Given the description of an element on the screen output the (x, y) to click on. 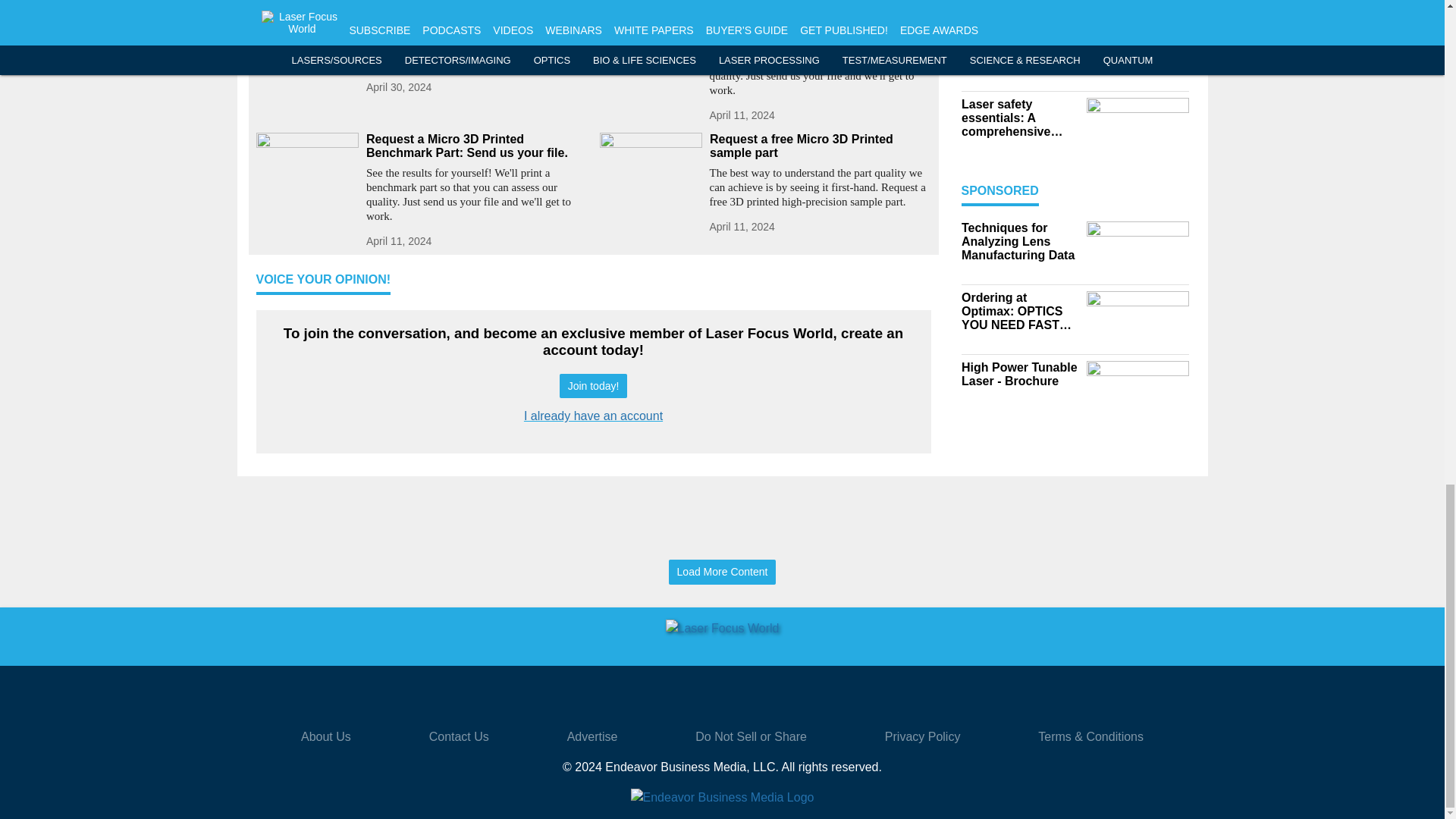
Optical Power Meters for Diverse Applications (476, 10)
